Given the description of an element on the screen output the (x, y) to click on. 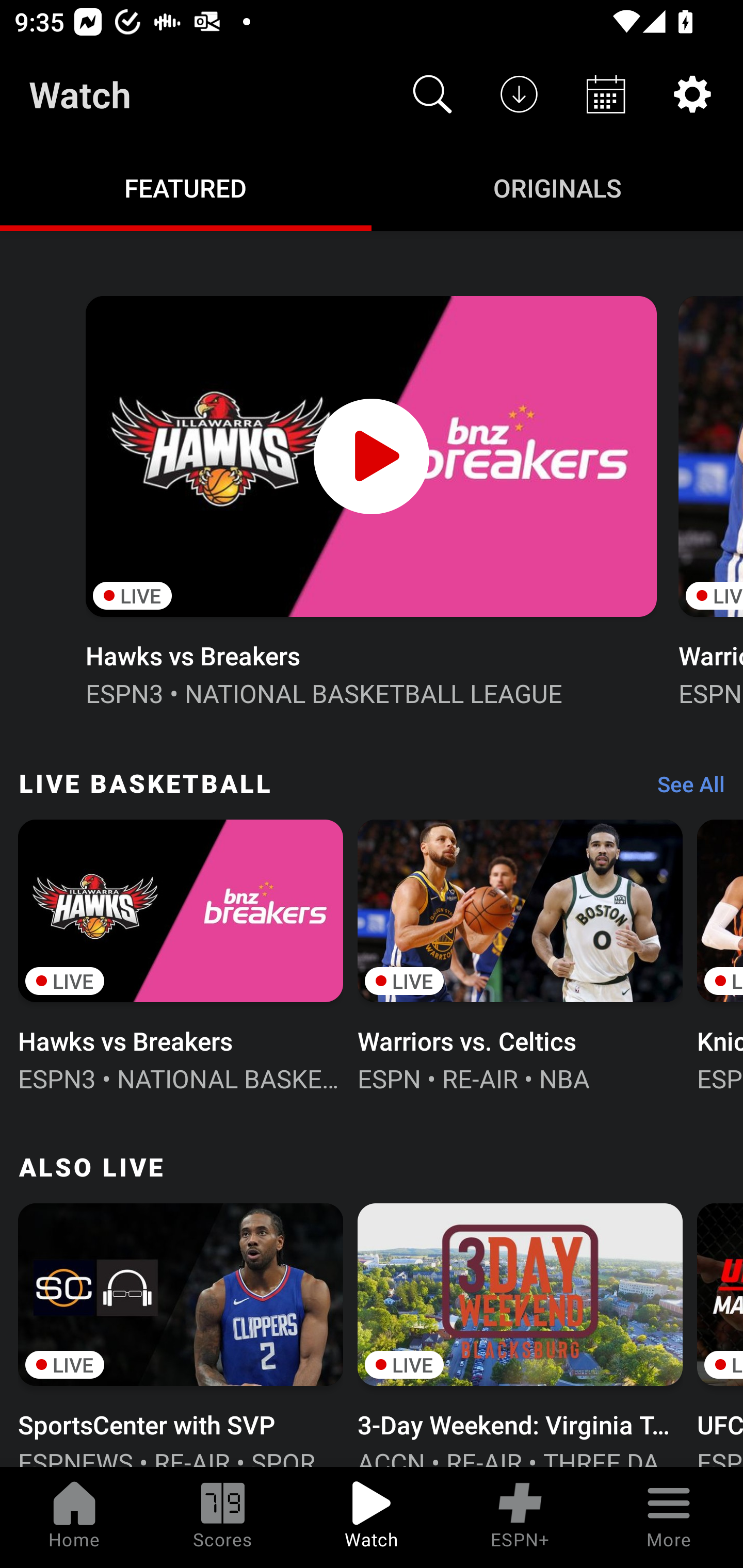
Search (432, 93)
Downloads (518, 93)
Schedule (605, 93)
Settings (692, 93)
Originals ORIGINALS (557, 187)
See All (683, 788)
LIVE Warriors vs. Celtics ESPN • RE-AIR • NBA (519, 954)
Home (74, 1517)
Scores (222, 1517)
ESPN+ (519, 1517)
More (668, 1517)
